Given the description of an element on the screen output the (x, y) to click on. 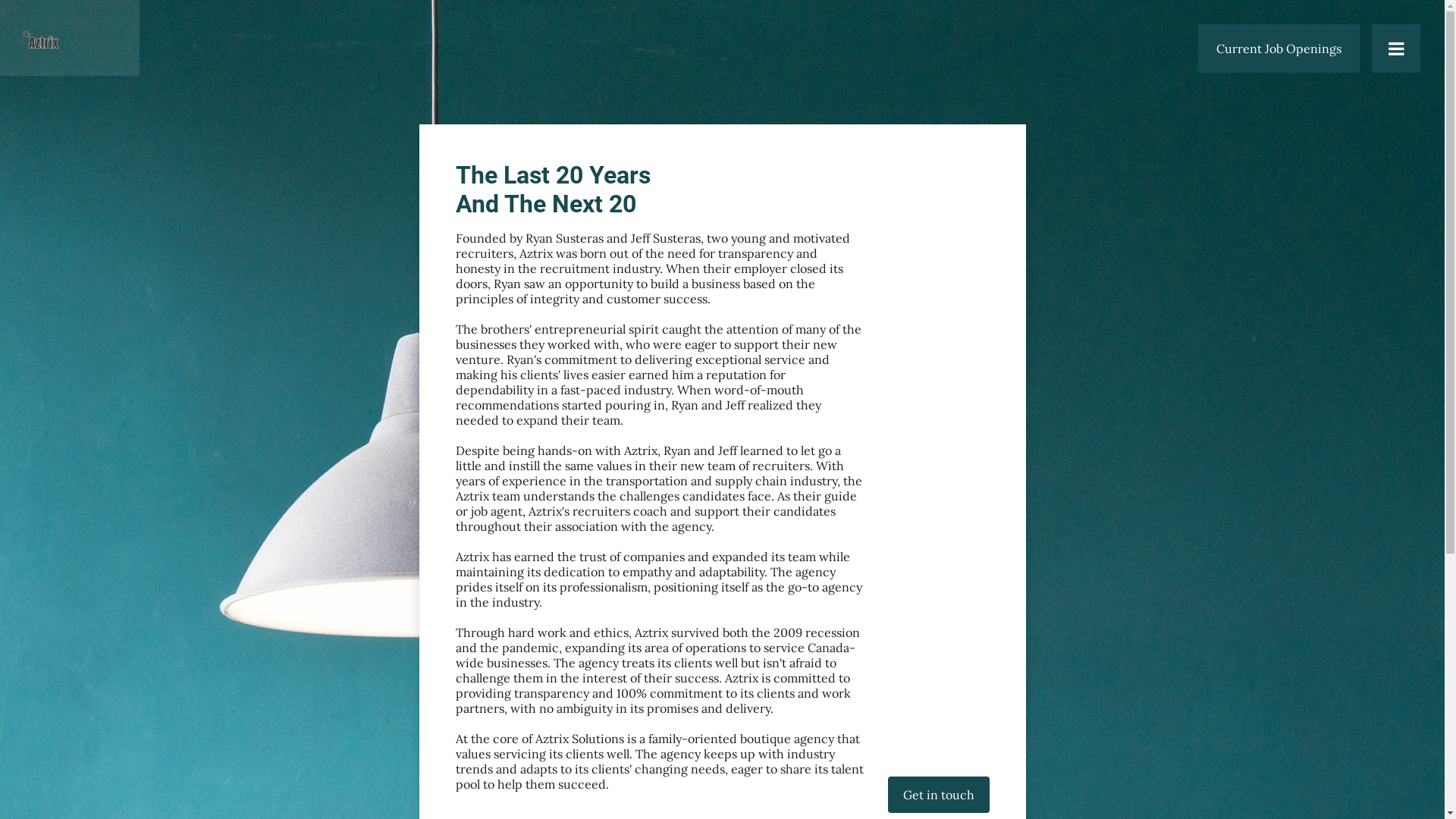
Get in touch Element type: text (937, 794)
Current Job Openings Element type: text (1278, 48)
